Given the description of an element on the screen output the (x, y) to click on. 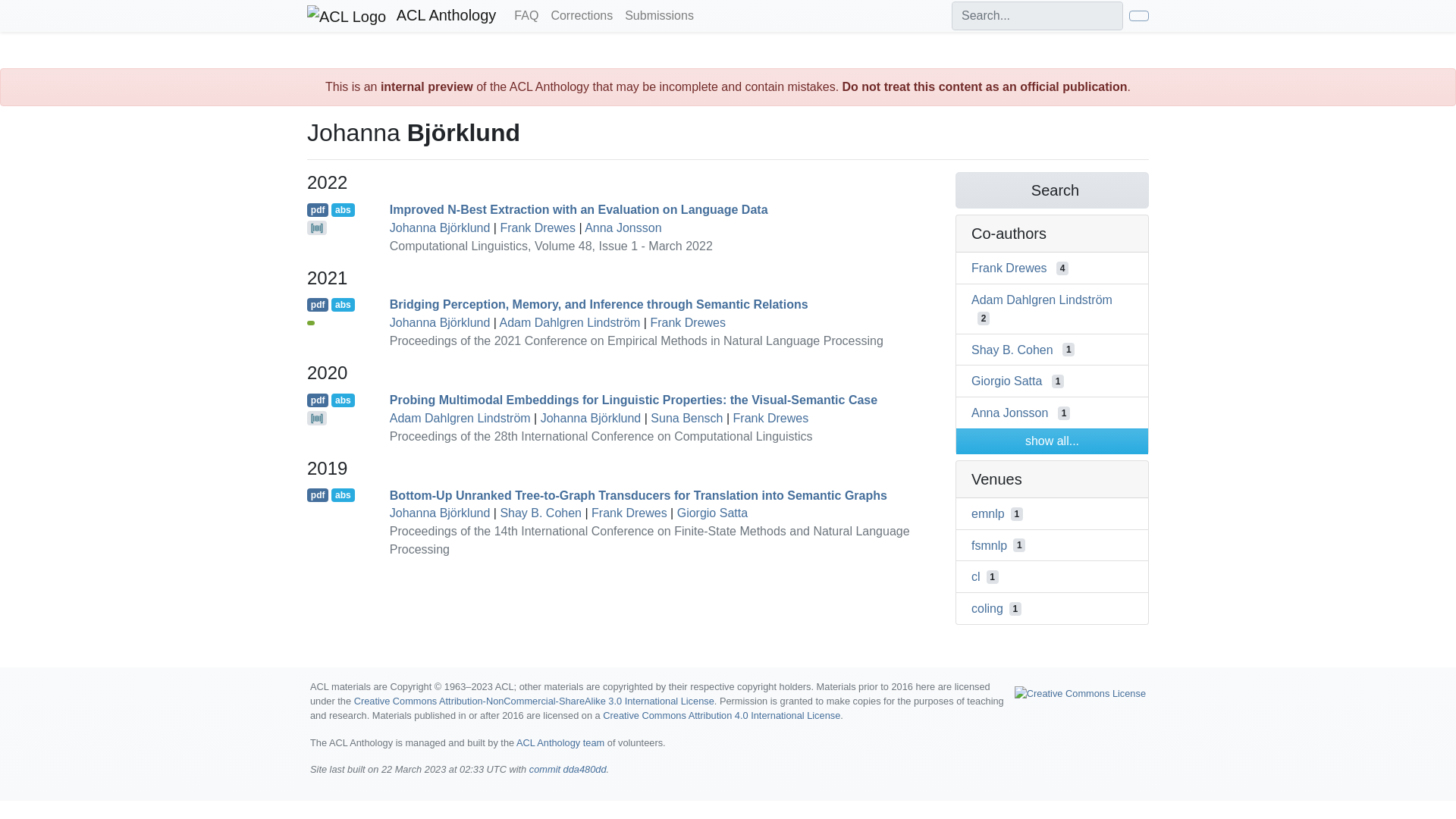
Anna Jonsson (623, 227)
Show Abstract (342, 400)
Suna Bensch (686, 418)
Frank Drewes (771, 418)
Show Abstract (342, 210)
ACL Anthology (401, 15)
Open PDF (318, 305)
